Given the description of an element on the screen output the (x, y) to click on. 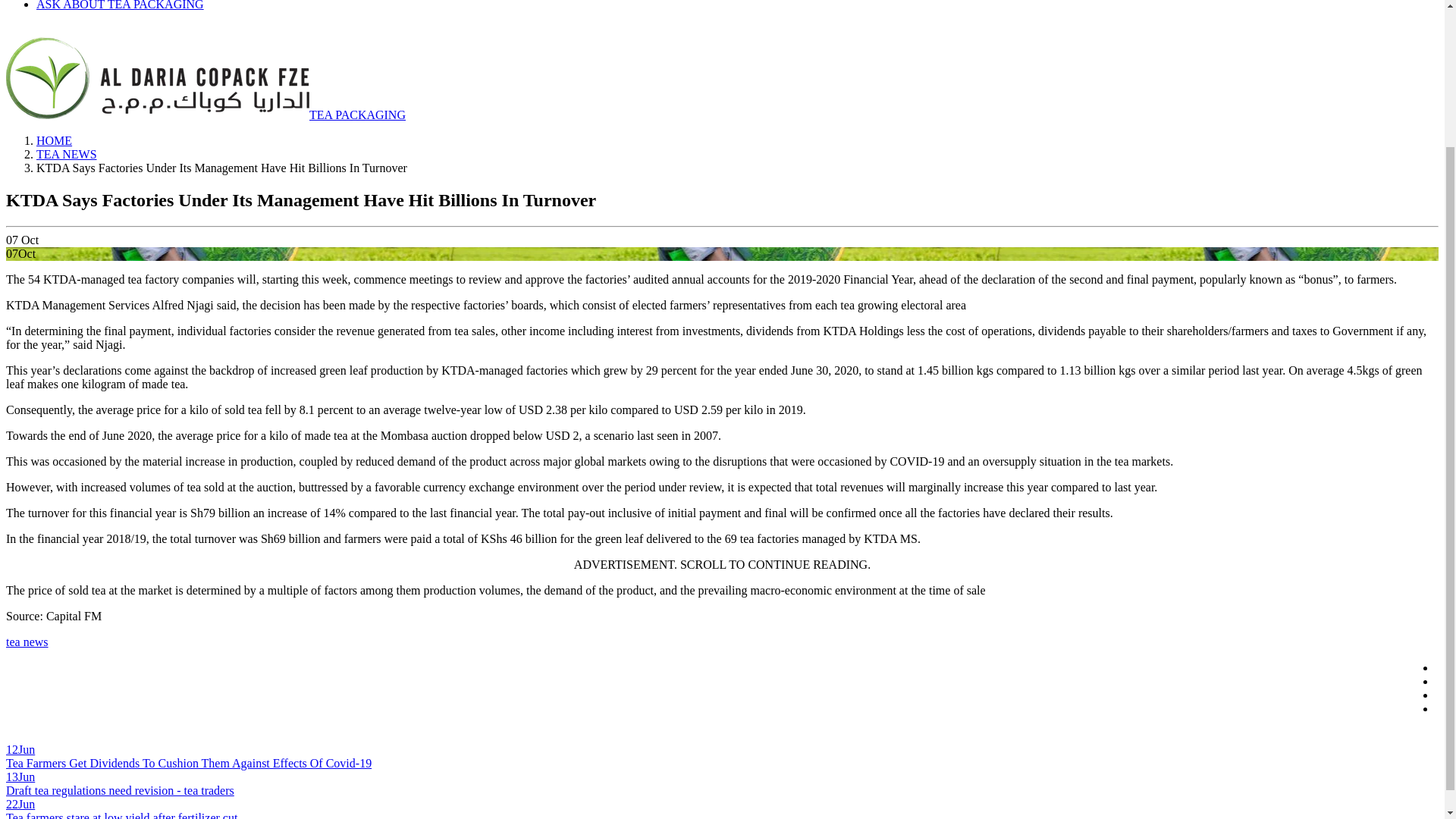
TEA PACKAGING (205, 114)
ASK ABOUT TEA PACKAGING (119, 5)
12Jun (19, 748)
Draft tea regulations need revision - tea traders (119, 789)
HOME (53, 140)
13Jun (19, 776)
tea news (26, 641)
TEA NEWS (66, 154)
22Jun (19, 803)
